Given the description of an element on the screen output the (x, y) to click on. 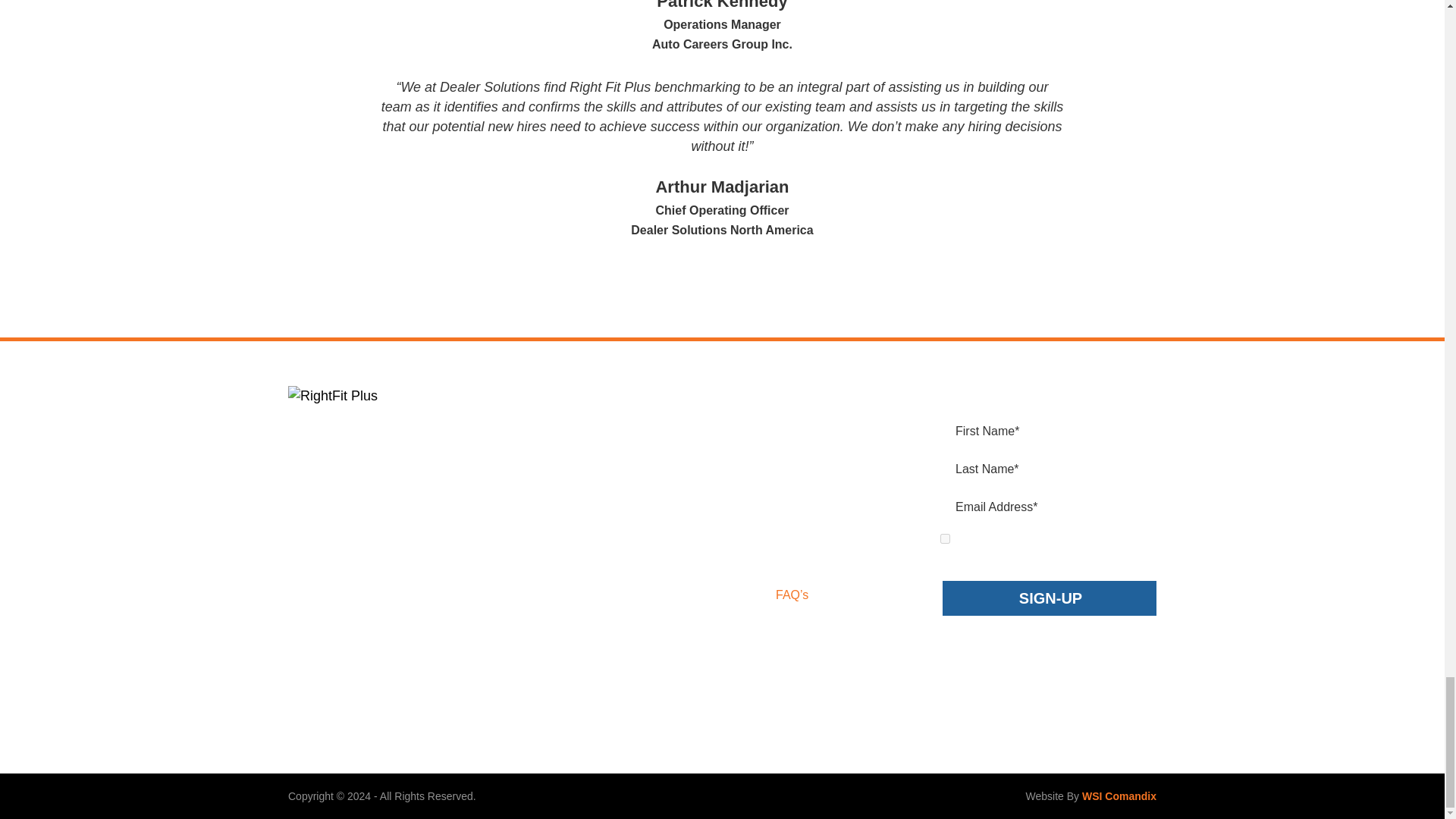
Yes (945, 538)
905-604-4951 (353, 501)
1-888-604-4951 (358, 534)
IQ Tests (631, 488)
Website By WSI Comandix (1118, 796)
Personality Profile Assessment (631, 420)
RightFit Plus (386, 395)
Sign-up (1050, 597)
